Given the description of an element on the screen output the (x, y) to click on. 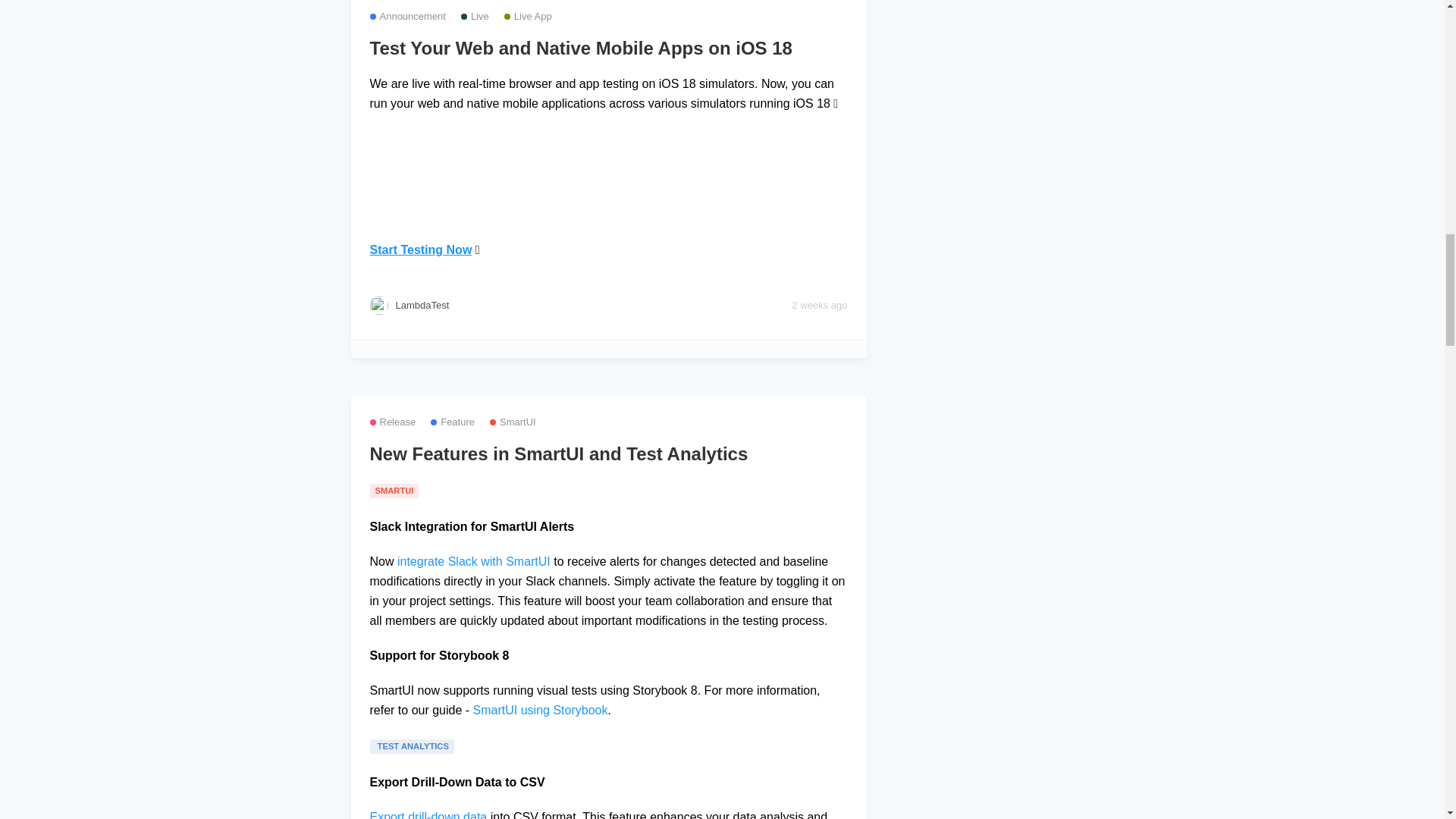
Test Your Web and Native Mobile Apps on iOS 18 (608, 47)
Export drill-down data (428, 814)
SmartUI using Storybook (540, 709)
2 weeks ago (819, 305)
New Features in SmartUI and Test Analytics (608, 454)
integrate Slack with SmartUI (473, 561)
Start Testing Now (420, 249)
